Given the description of an element on the screen output the (x, y) to click on. 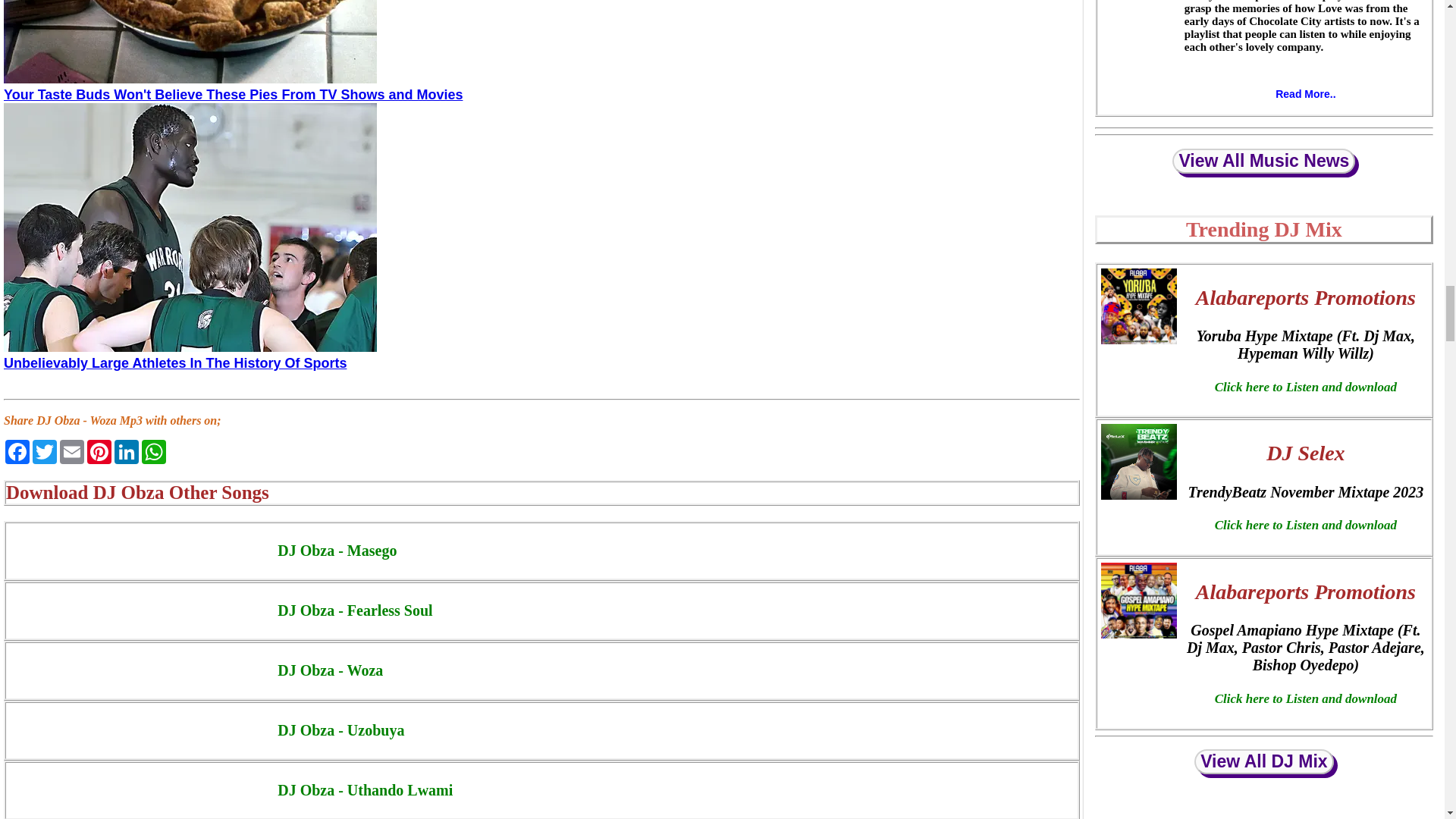
Facebook (17, 451)
Twitter (44, 451)
WhatsApp (153, 451)
Pinterest (99, 451)
Email (71, 451)
LinkedIn (126, 451)
